Given the description of an element on the screen output the (x, y) to click on. 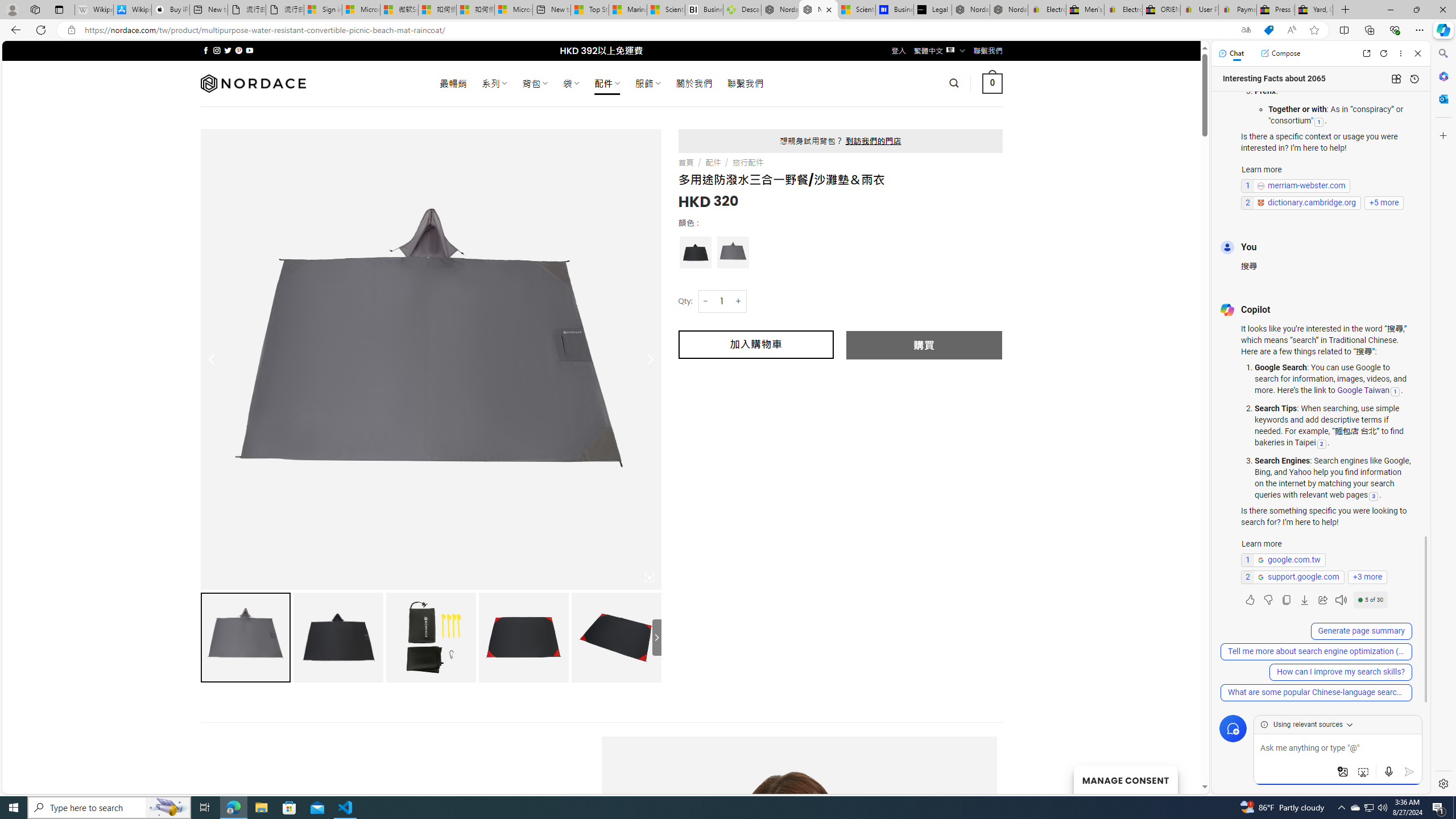
Follow on YouTube (249, 50)
  0   (992, 83)
Show translate options (1245, 29)
